Given the description of an element on the screen output the (x, y) to click on. 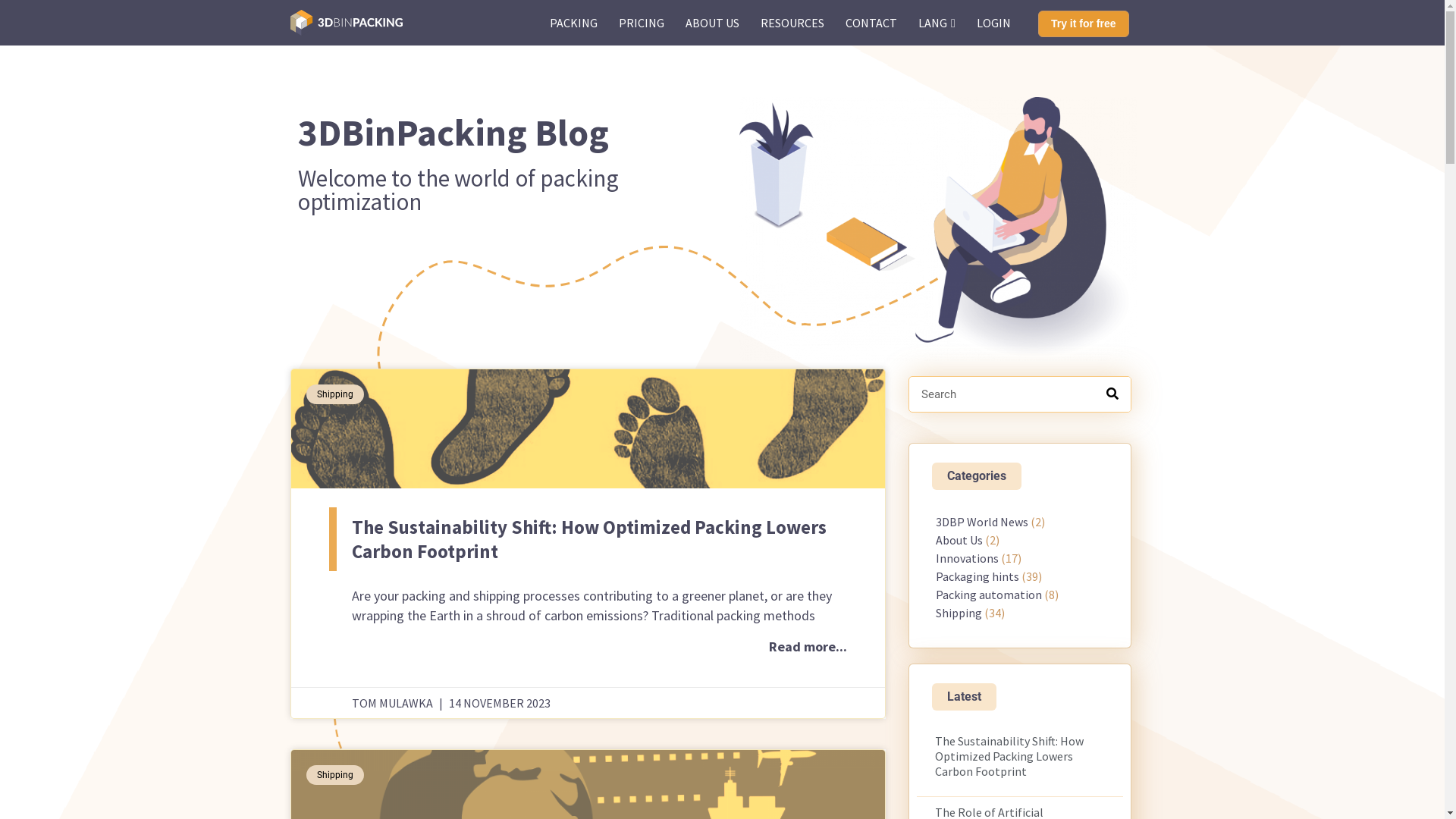
3DBP World News Element type: text (981, 521)
Try it for free Element type: text (1087, 22)
PRICING Element type: text (641, 22)
ABOUT US Element type: text (711, 22)
Packing automation Element type: text (988, 594)
Read more... Element type: text (807, 646)
3DBIN_logo_white Element type: hover (345, 22)
Packaging hints Element type: text (977, 575)
LOGIN Element type: text (993, 22)
Innovations Element type: text (966, 557)
RESOURCES Element type: text (791, 22)
Categories Element type: text (976, 475)
Search Element type: hover (1112, 393)
Shipping Element type: text (958, 612)
CONTACT Element type: text (870, 22)
on Element type: text (345, 22)
Latest Element type: text (963, 696)
Try it for free Element type: text (1083, 23)
PACKING Element type: text (573, 22)
LANG Element type: text (936, 22)
About Us Element type: text (958, 539)
Search Element type: hover (1001, 393)
